Given the description of an element on the screen output the (x, y) to click on. 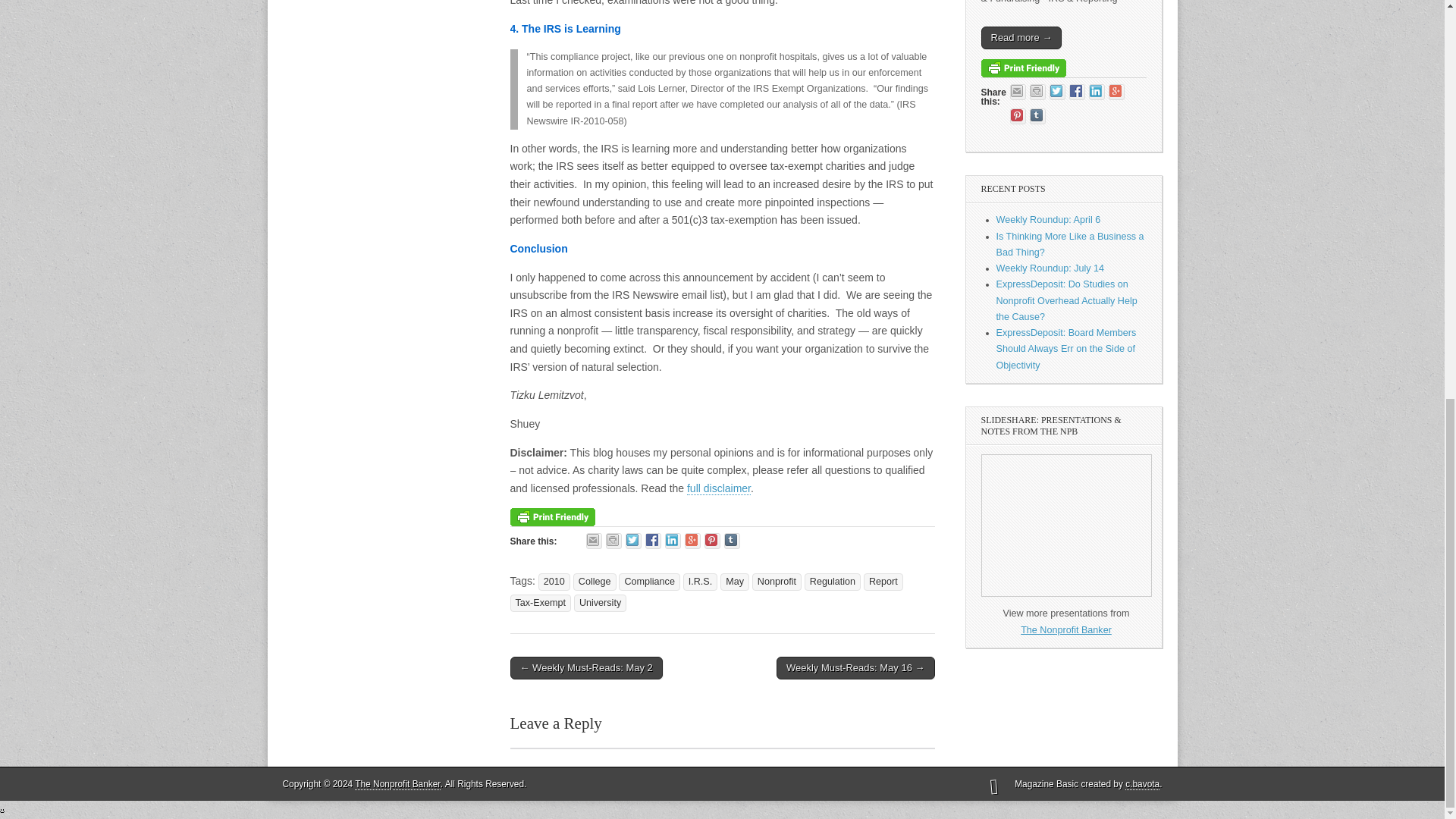
Click to share on Twitter (634, 540)
Click to email this to a friend (594, 540)
Click to share on Tumblr (731, 540)
Click to share on Pinterest (712, 540)
Click to print (613, 540)
Share on Facebook (653, 540)
full disclaimer (719, 488)
Click to share on LinkedIn (673, 540)
